Given the description of an element on the screen output the (x, y) to click on. 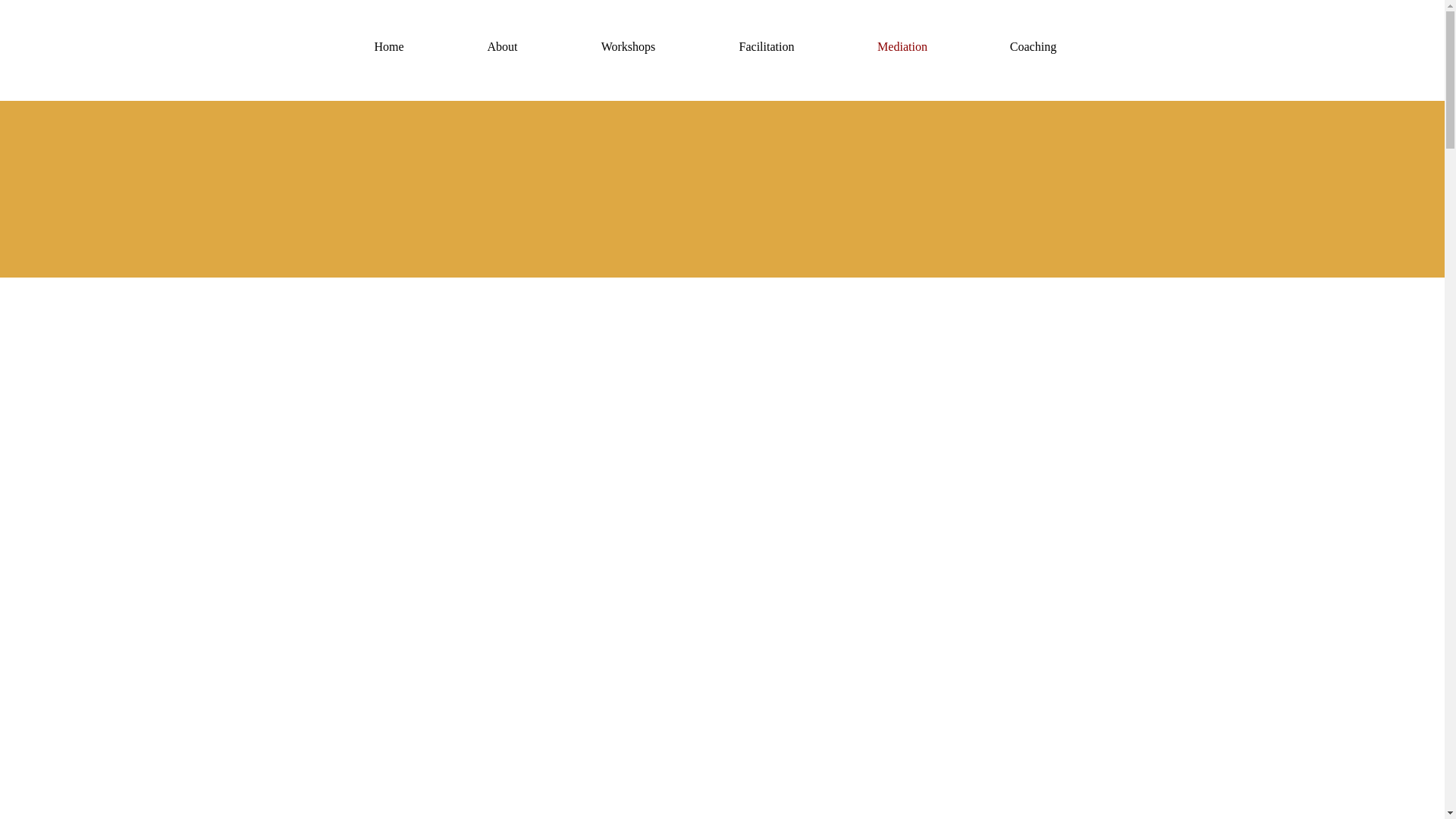
Facilitation (766, 46)
Workshops (628, 46)
Home (388, 46)
About (502, 46)
Mediation (901, 46)
Coaching (1033, 46)
